Given the description of an element on the screen output the (x, y) to click on. 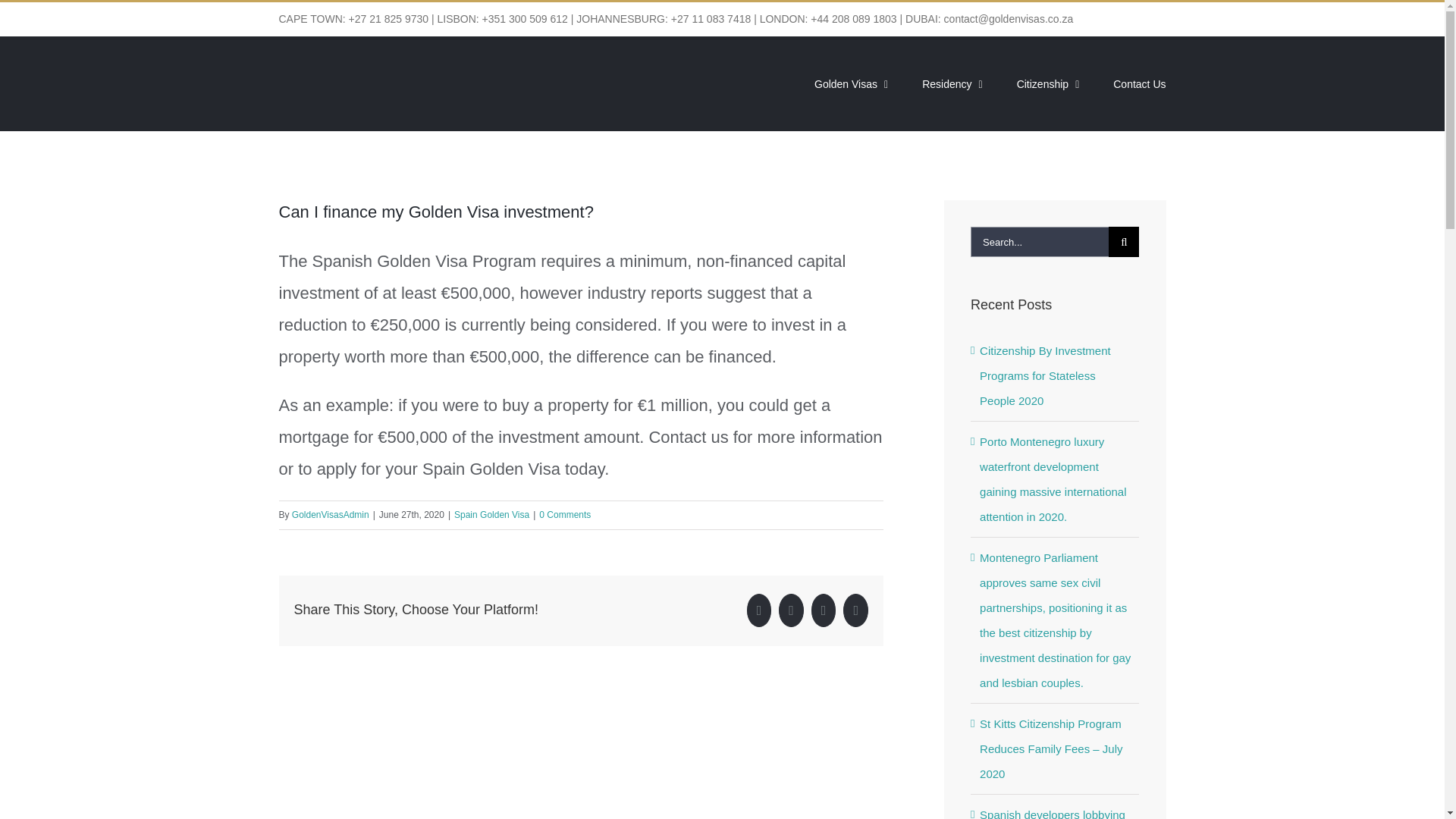
Citizenship By Investment Programs for Stateless People 2020 (1044, 375)
GoldenVisasAdmin (330, 514)
Posts by GoldenVisasAdmin (330, 514)
Spain Golden Visa (491, 514)
0 Comments (564, 514)
